Given the description of an element on the screen output the (x, y) to click on. 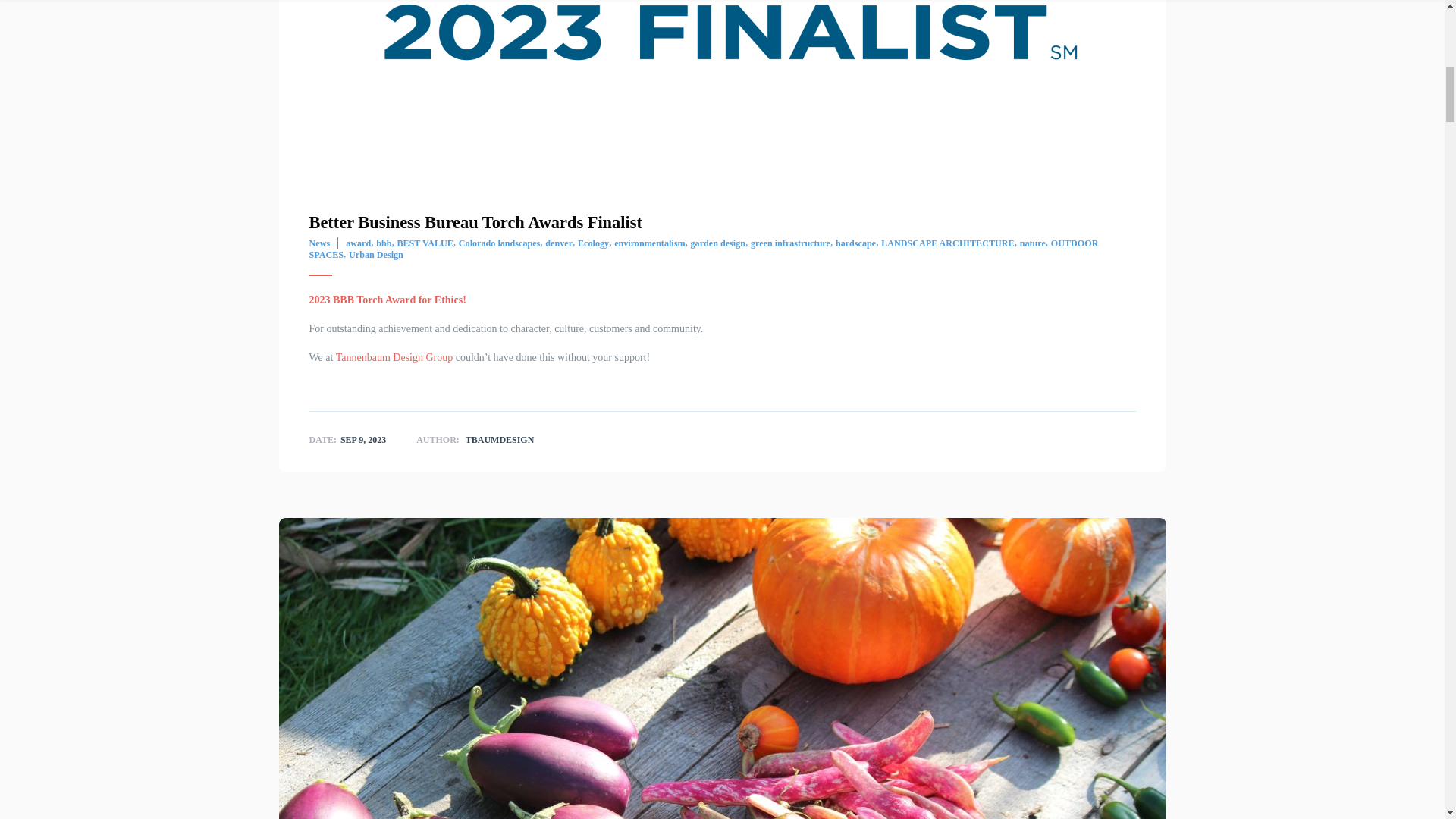
Ecology (593, 243)
Colorado landscapes (499, 243)
News (319, 243)
Better Business Bureau Torch Awards Finalist (475, 221)
bbb (383, 243)
award (358, 243)
BEST VALUE (424, 243)
denver (558, 243)
